Given the description of an element on the screen output the (x, y) to click on. 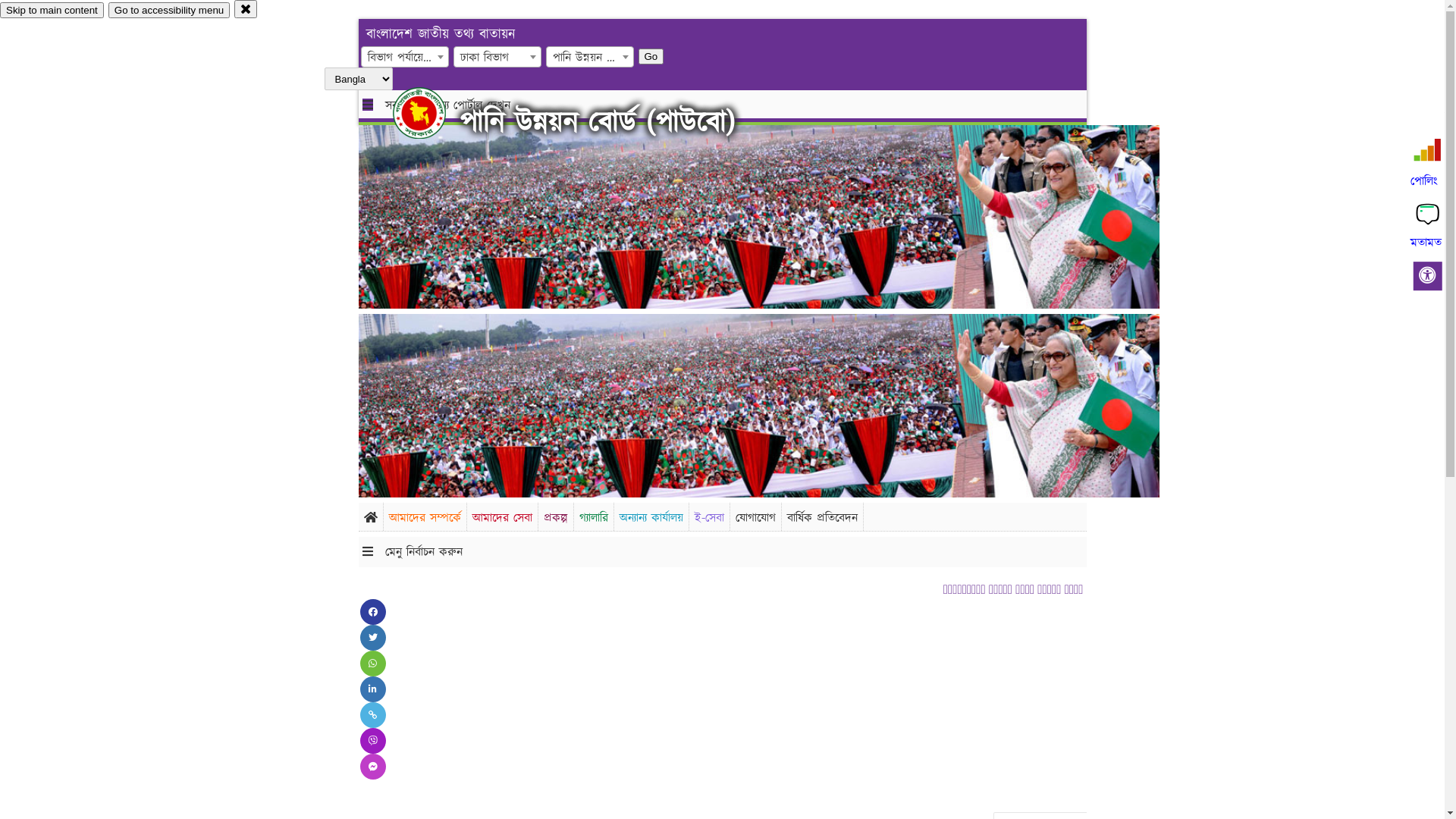

                
             Element type: hover (431, 112)
Skip to main content Element type: text (51, 10)
close Element type: hover (245, 9)
Go Element type: text (651, 56)
Go to accessibility menu Element type: text (168, 10)
